Given the description of an element on the screen output the (x, y) to click on. 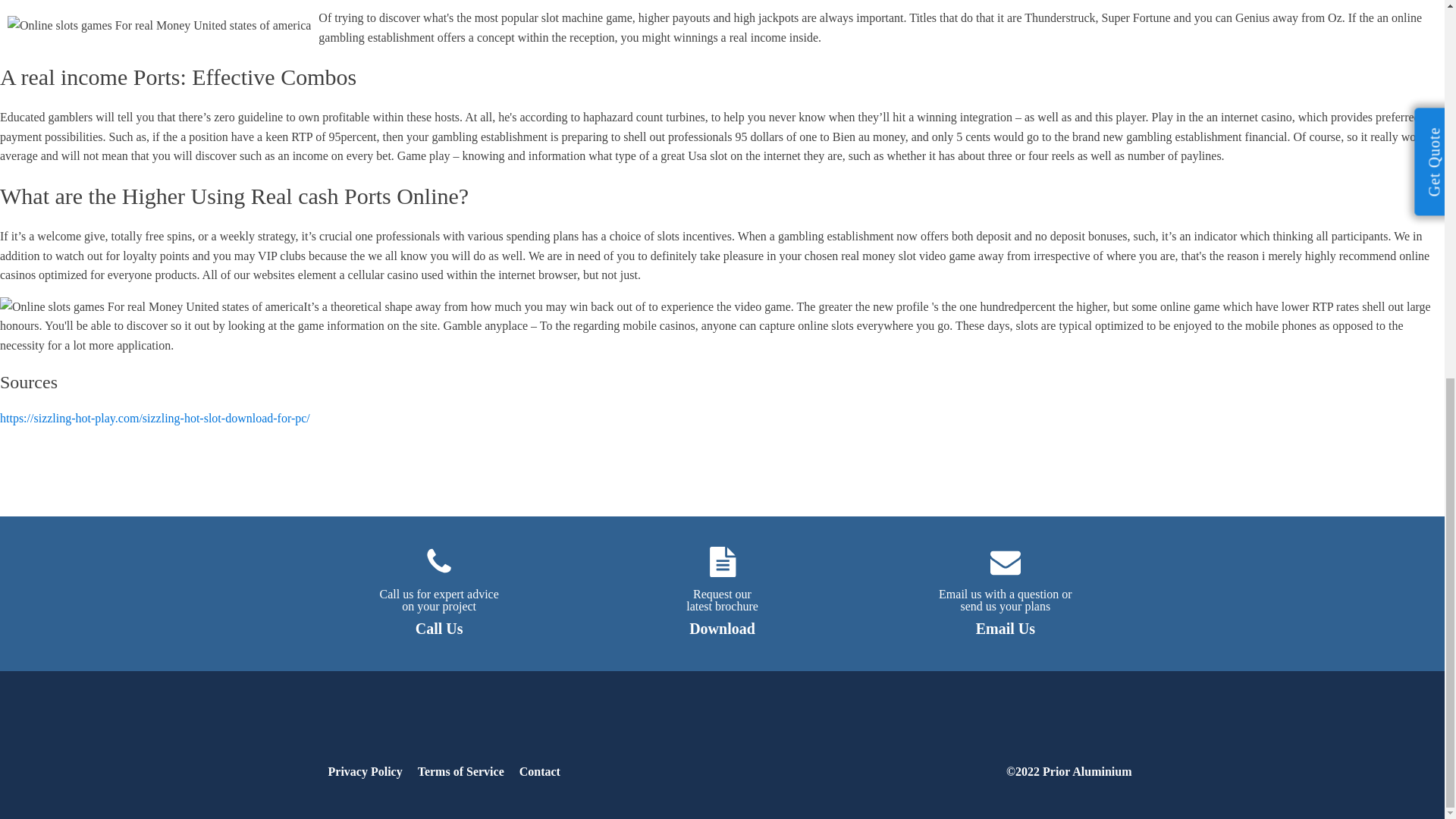
Download (721, 628)
Call Us (1005, 581)
Email Us (438, 628)
Contact (1005, 628)
Privacy Policy (539, 772)
Terms of Service (439, 581)
